Given the description of an element on the screen output the (x, y) to click on. 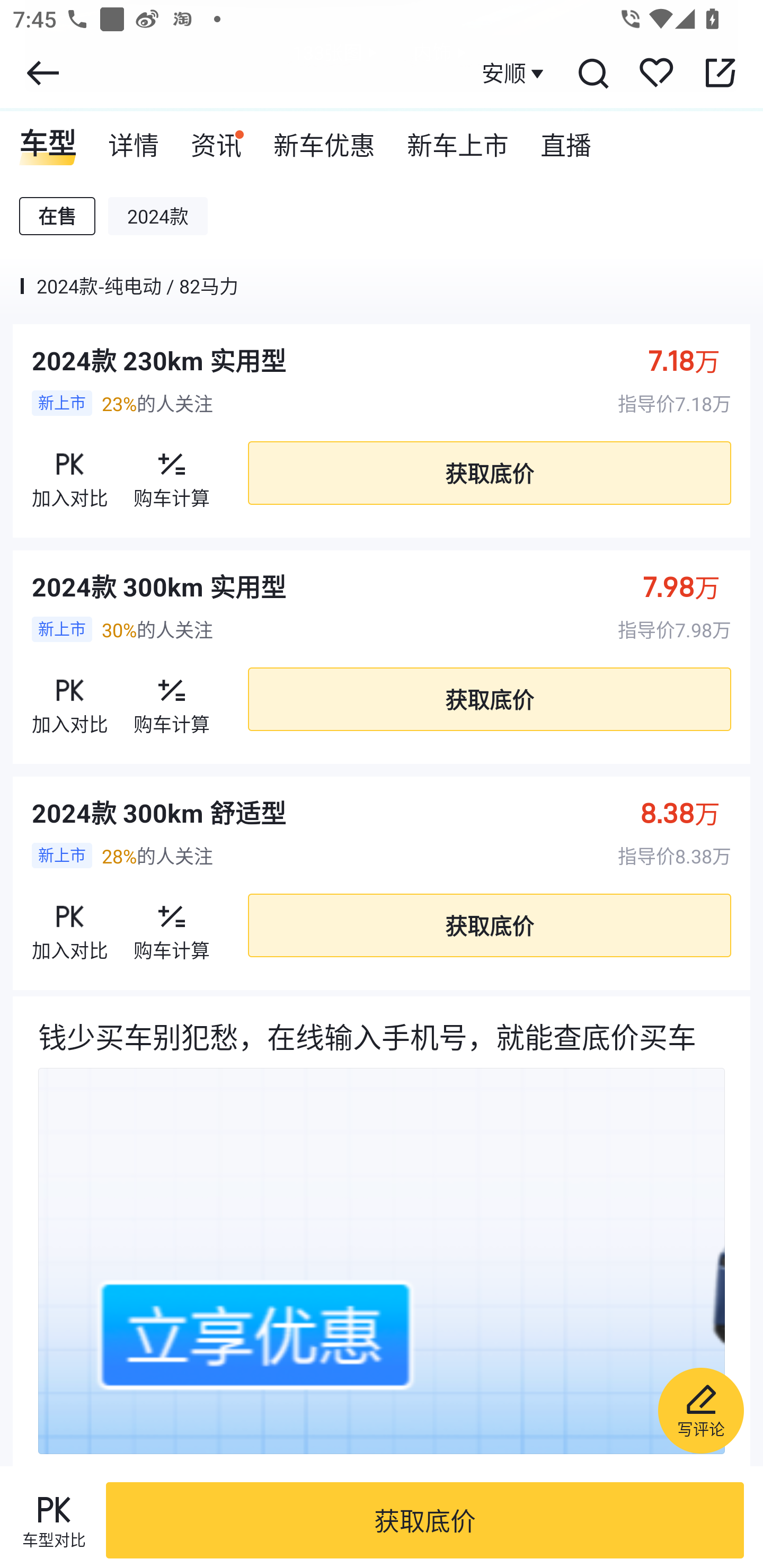
 (42, 72)
 (592, 72)
 (720, 72)
安顺 (514, 73)
车型 (47, 138)
详情 (133, 138)
资讯 (215, 138)
新车优惠 (324, 138)
新车上市 (457, 138)
直播 (565, 138)
在售 (57, 216)
2024款 (157, 216)
7.18 万 (693, 360)
加入对比 (70, 473)
 购车计算 (171, 473)
获取底价 (489, 472)
7.98 万 (690, 586)
加入对比 (70, 698)
 购车计算 (171, 698)
获取底价 (489, 699)
8.38 万 (689, 811)
加入对比 (70, 924)
 购车计算 (171, 924)
获取底价 (489, 925)
钱少买车别犯愁，在线输入手机号，就能查底价买车 (381, 1230)
写评论 (700, 1410)
车型对比 (53, 1520)
获取底价 (424, 1519)
